Given the description of an element on the screen output the (x, y) to click on. 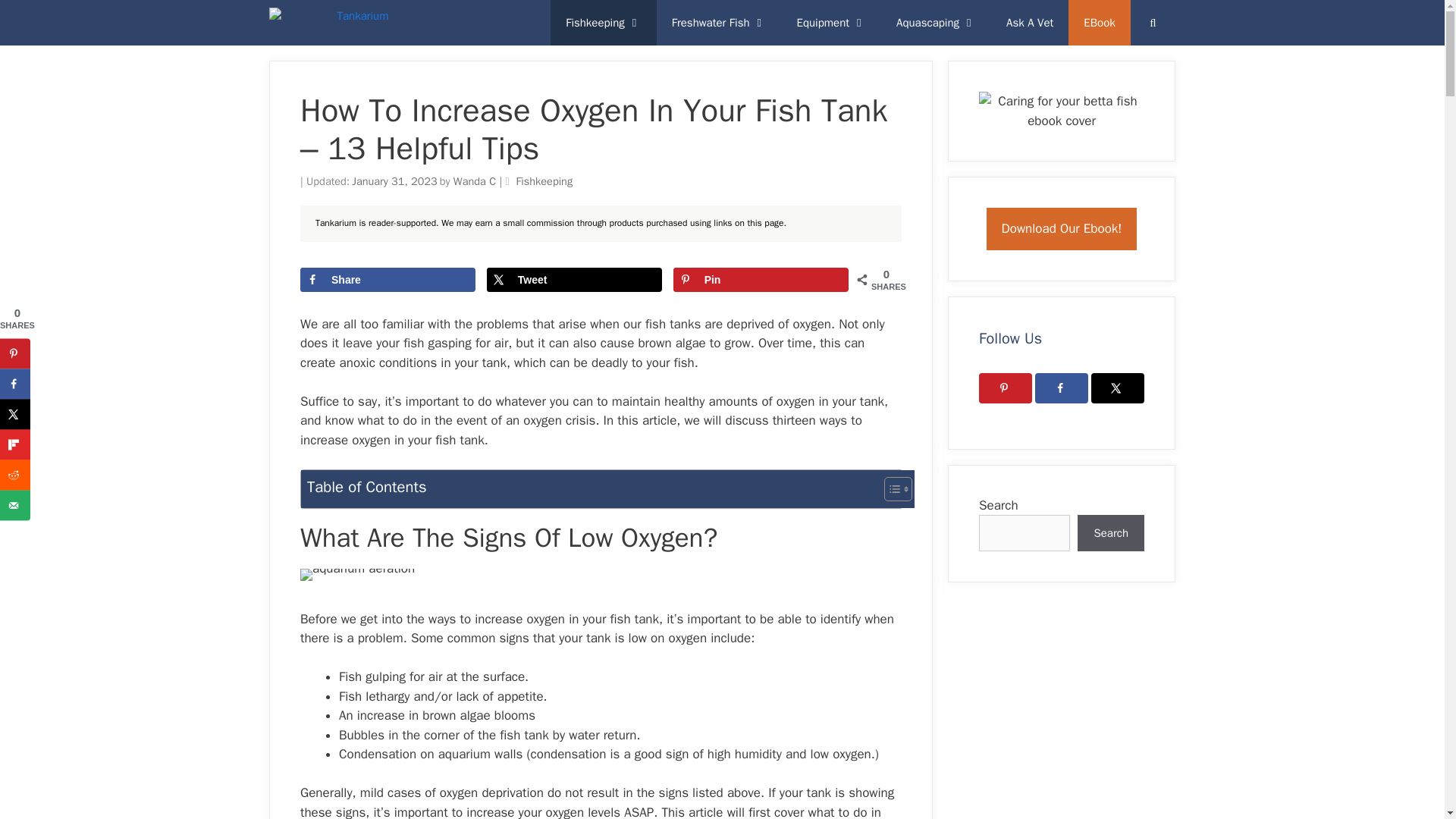
Save to Pinterest (760, 279)
Tankarium (328, 22)
Share on Facebook (387, 279)
Fishkeeping (603, 22)
Tankarium (332, 22)
Freshwater Fish (718, 22)
Share on X (574, 279)
View all posts by Wanda C (478, 181)
